Given the description of an element on the screen output the (x, y) to click on. 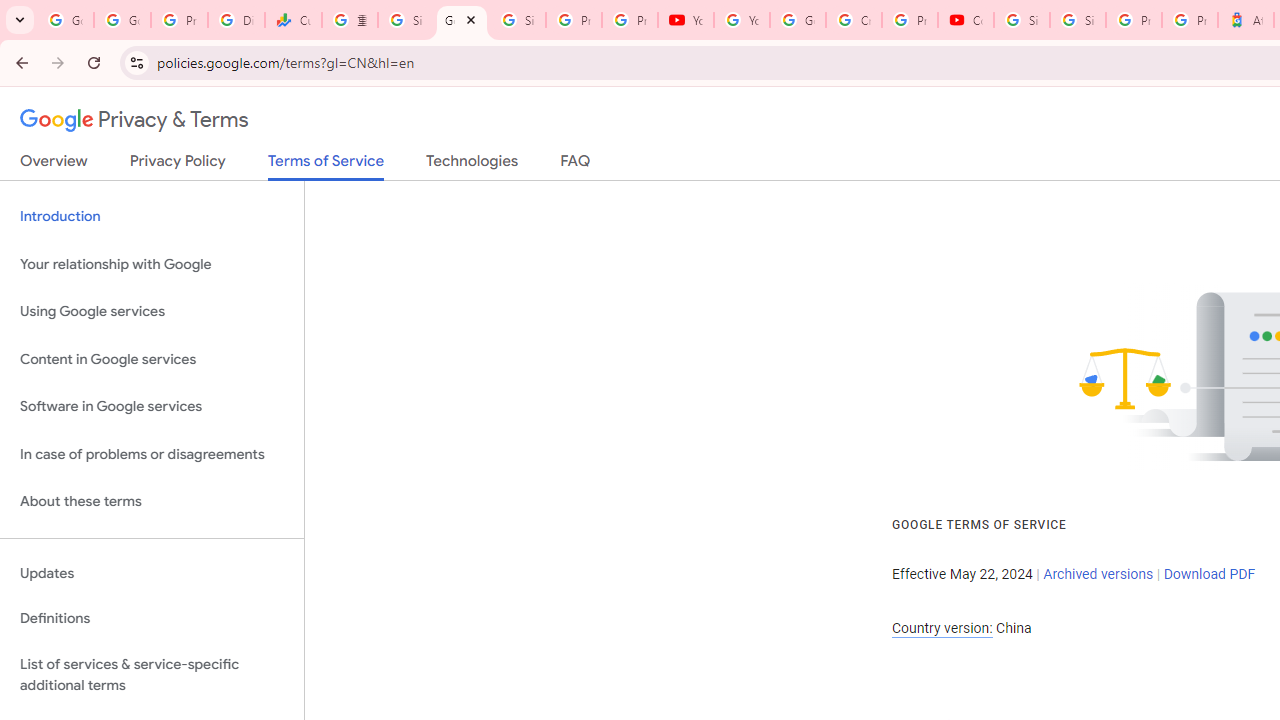
Sign in - Google Accounts (1077, 20)
Definitions (152, 619)
Currencies - Google Finance (293, 20)
Sign in - Google Accounts (518, 20)
Privacy & Terms (134, 120)
YouTube (742, 20)
Archived versions (1098, 574)
FAQ (575, 165)
